Given the description of an element on the screen output the (x, y) to click on. 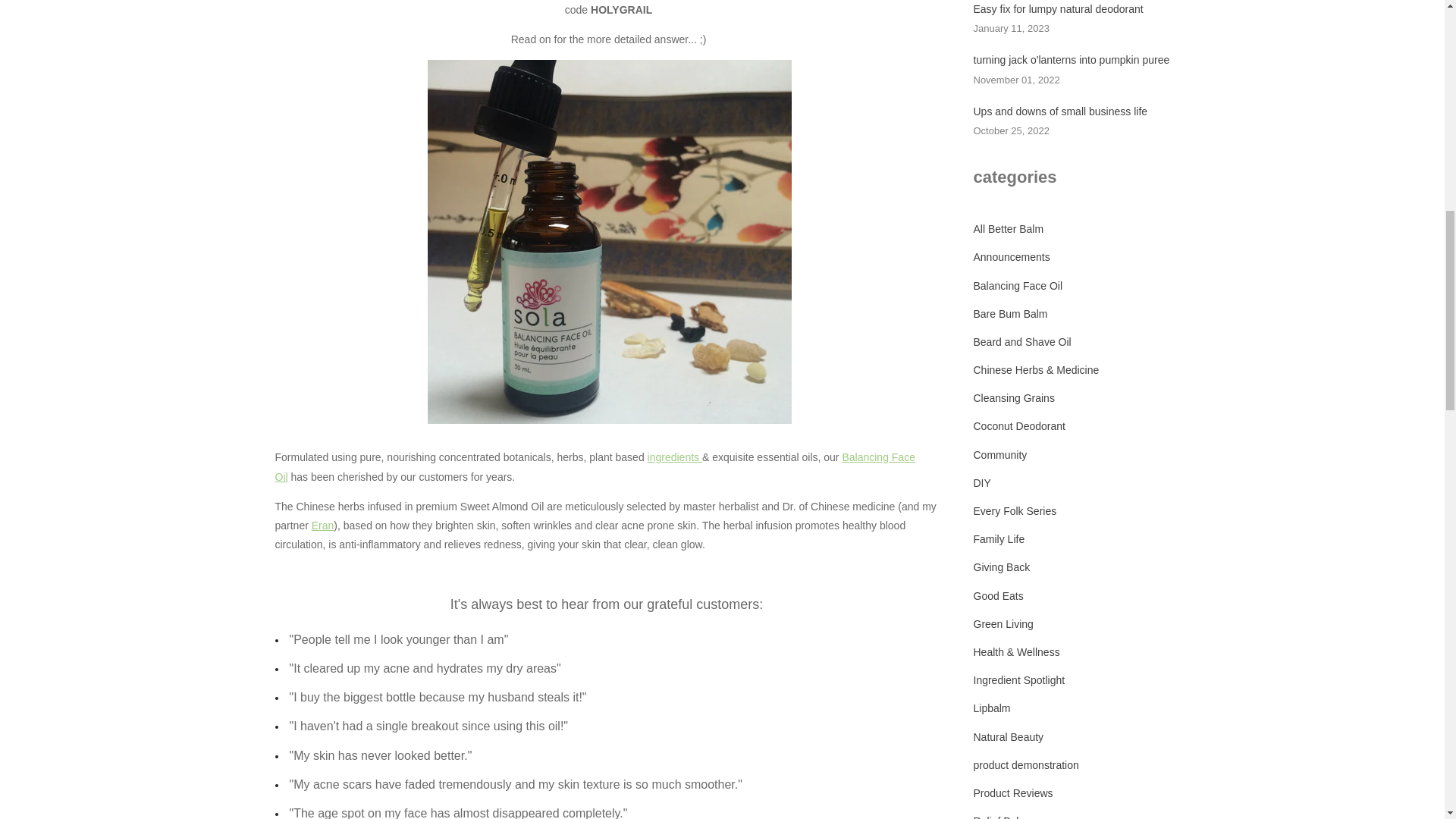
Eran (322, 525)
Balancing Face Oil (594, 466)
ingredients (674, 457)
